Given the description of an element on the screen output the (x, y) to click on. 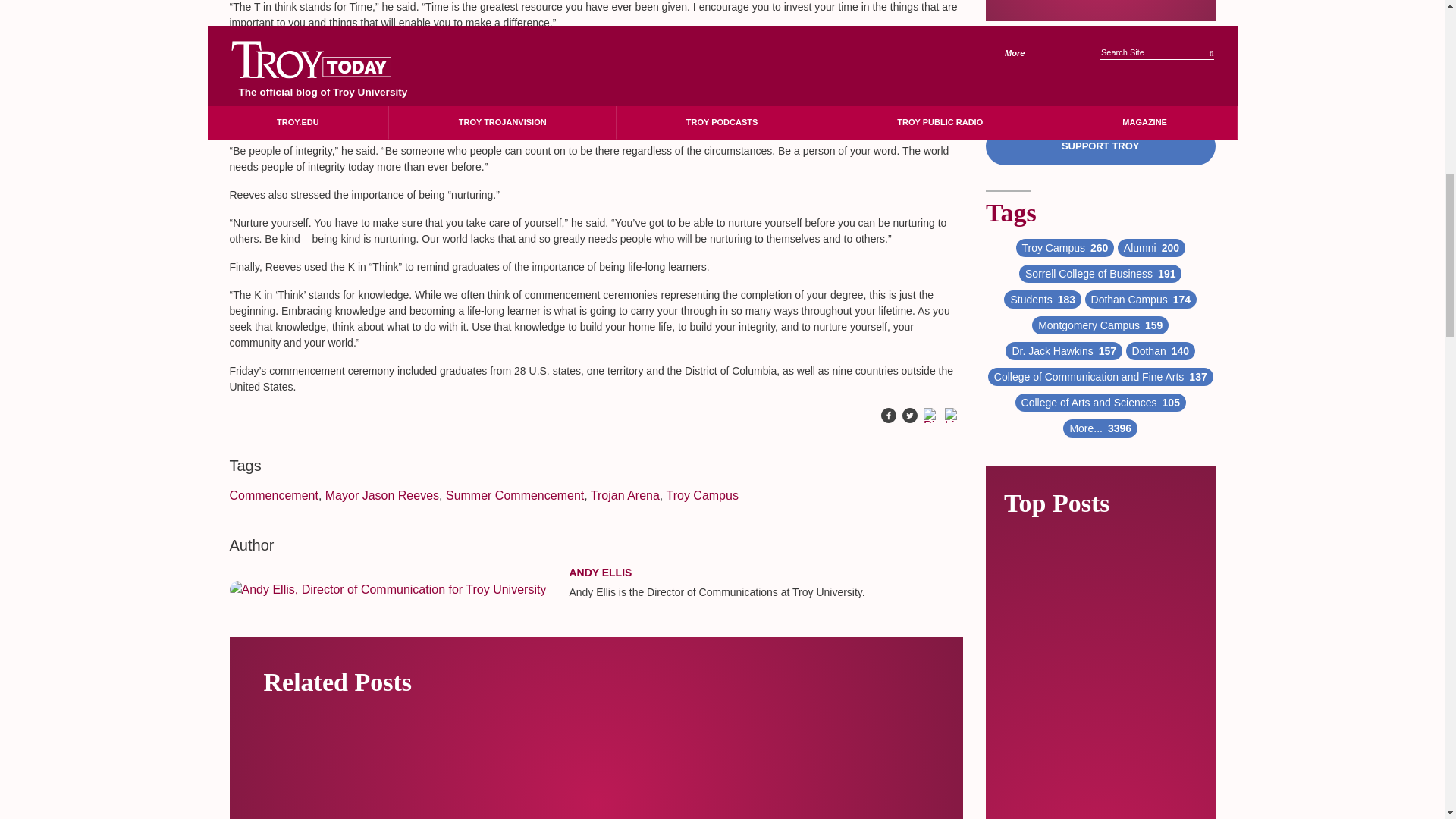
Troy Campus (701, 495)
Summer Commencement (514, 495)
Mayor Jason Reeves (381, 495)
ANDY ELLIS (600, 572)
Commencement (272, 495)
Trojan Arena (625, 495)
